Given the description of an element on the screen output the (x, y) to click on. 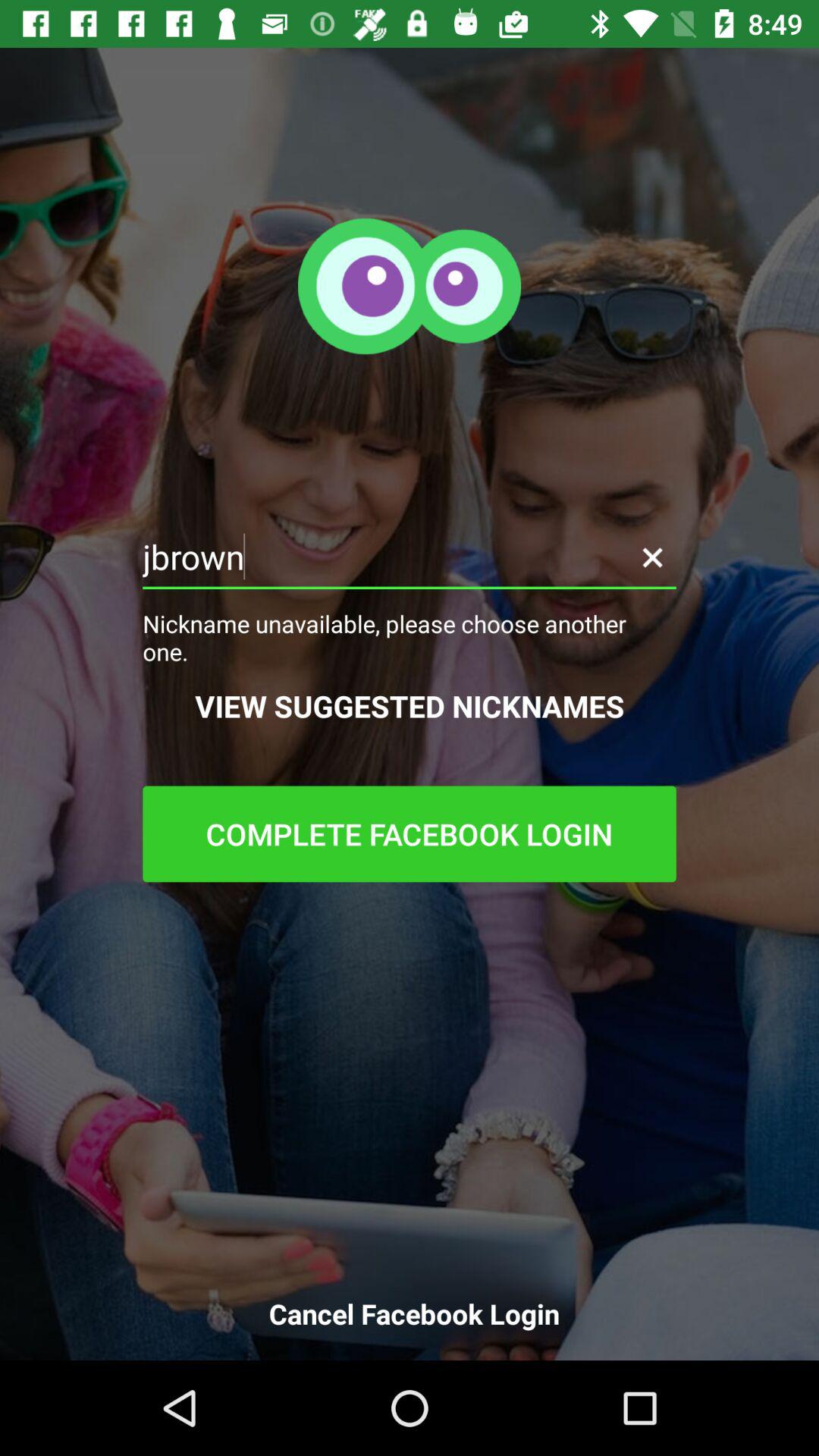
delete username (652, 557)
